Given the description of an element on the screen output the (x, y) to click on. 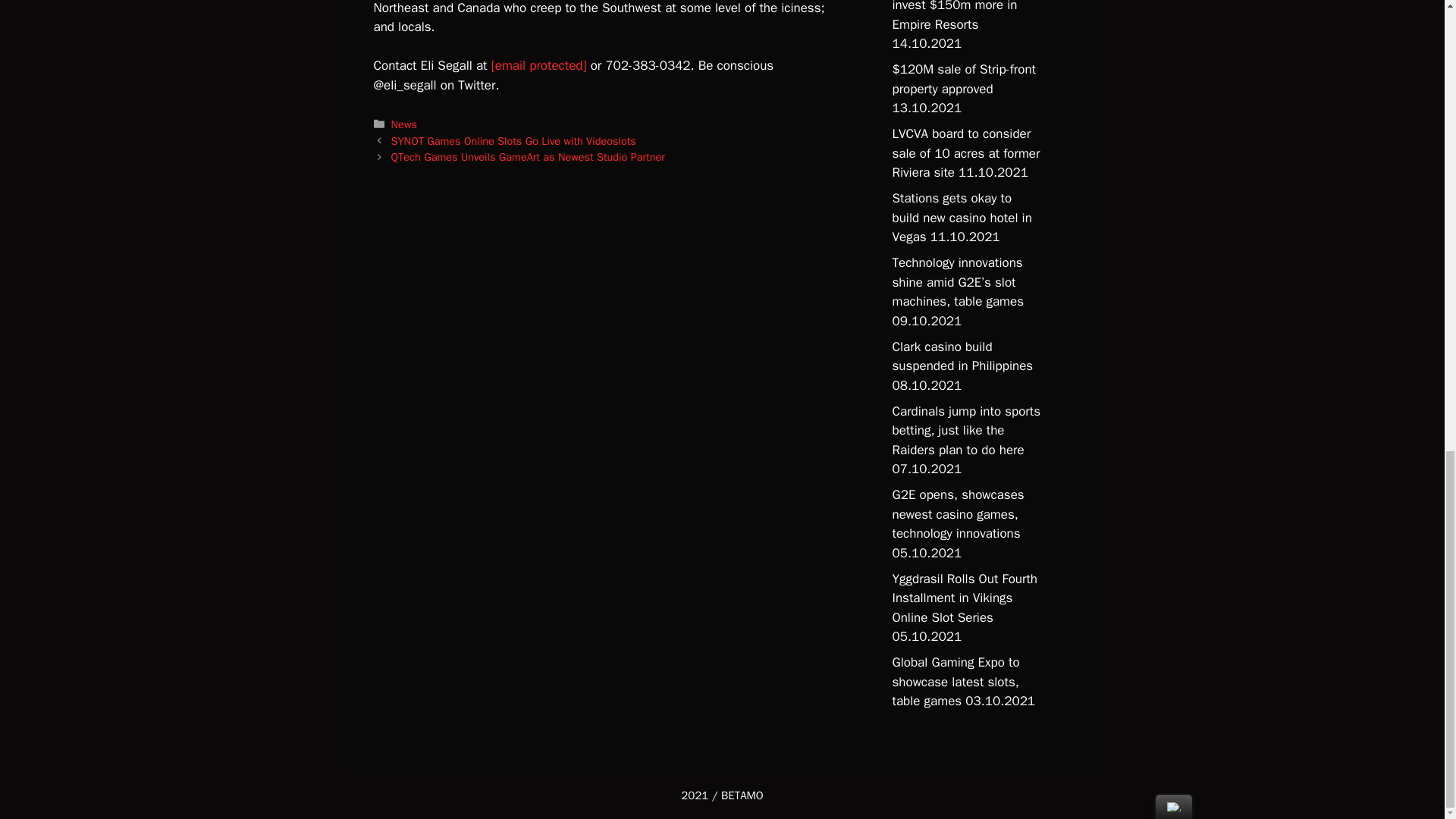
Previous (513, 141)
Global Gaming Expo to showcase latest slots, table games (955, 681)
Clark casino build suspended in Philippines (961, 356)
QTech Games Unveils GameArt as Newest Studio Partner (528, 156)
Stations gets okay to build new casino hotel in Vegas (960, 217)
News (403, 124)
SYNOT Games Online Slots Go Live with Videoslots (513, 141)
Next (528, 156)
